Given the description of an element on the screen output the (x, y) to click on. 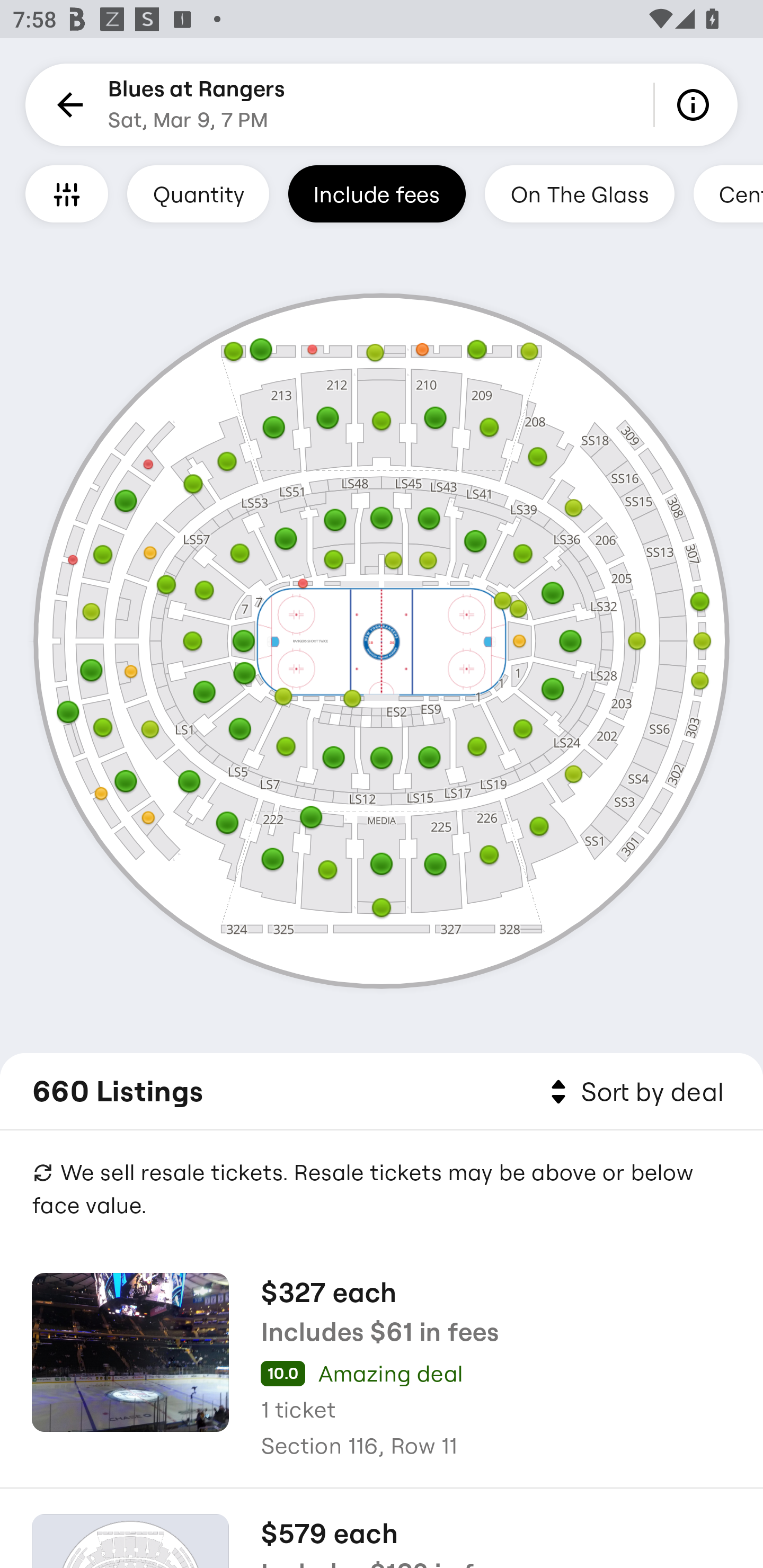
Back (66, 104)
Blues at Rangers Sat, Mar 9, 7 PM (196, 104)
Info (695, 104)
Filters and Accessible Seating (66, 193)
Quantity (198, 193)
Include fees (376, 193)
On The Glass (579, 193)
Sort by deal (633, 1091)
